Given the description of an element on the screen output the (x, y) to click on. 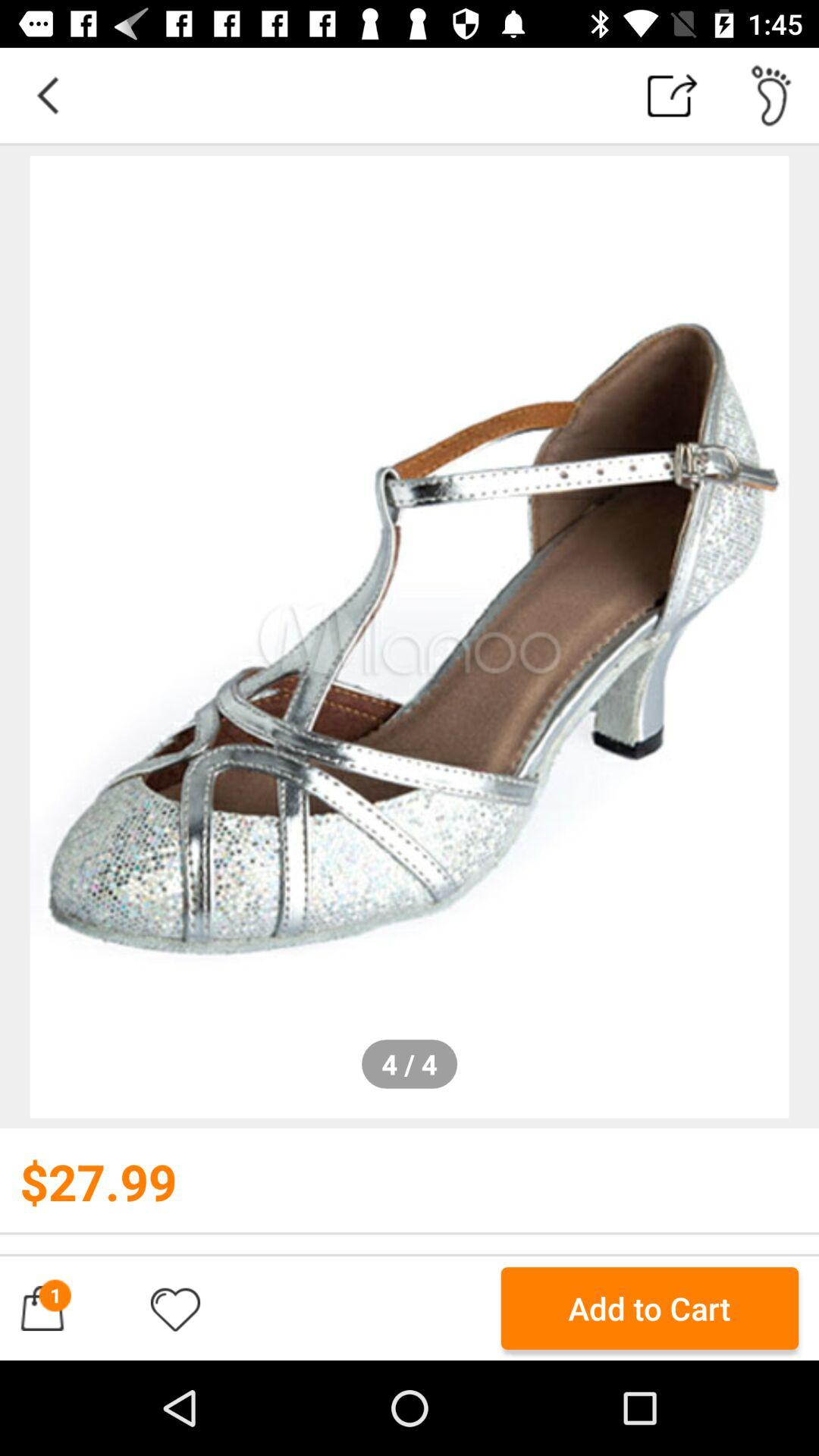
image 4/4 (409, 636)
